Given the description of an element on the screen output the (x, y) to click on. 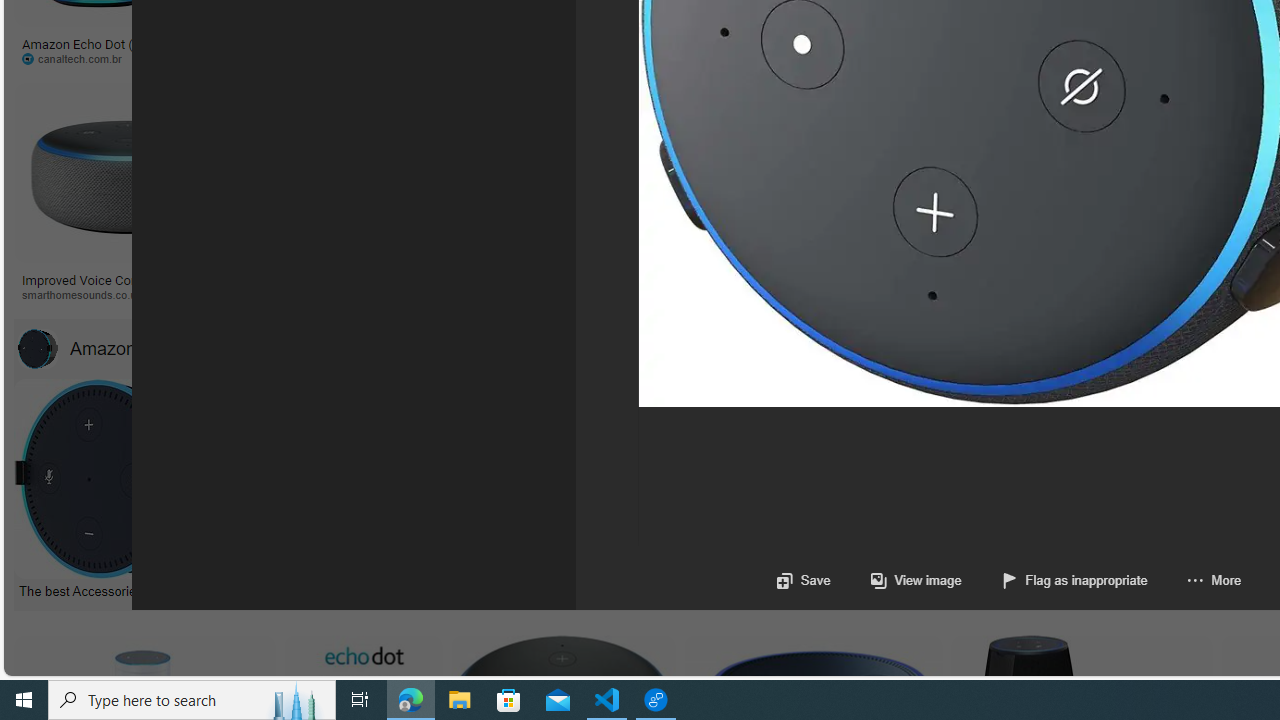
security.org (438, 295)
Improved Voice Control with Sonos & Alexa Echo devices (128, 286)
pricehistoryapp.com (506, 58)
View image (895, 580)
View image (916, 580)
Best Amazon Echo Accessories - Tech Advisor (534, 589)
